Given the description of an element on the screen output the (x, y) to click on. 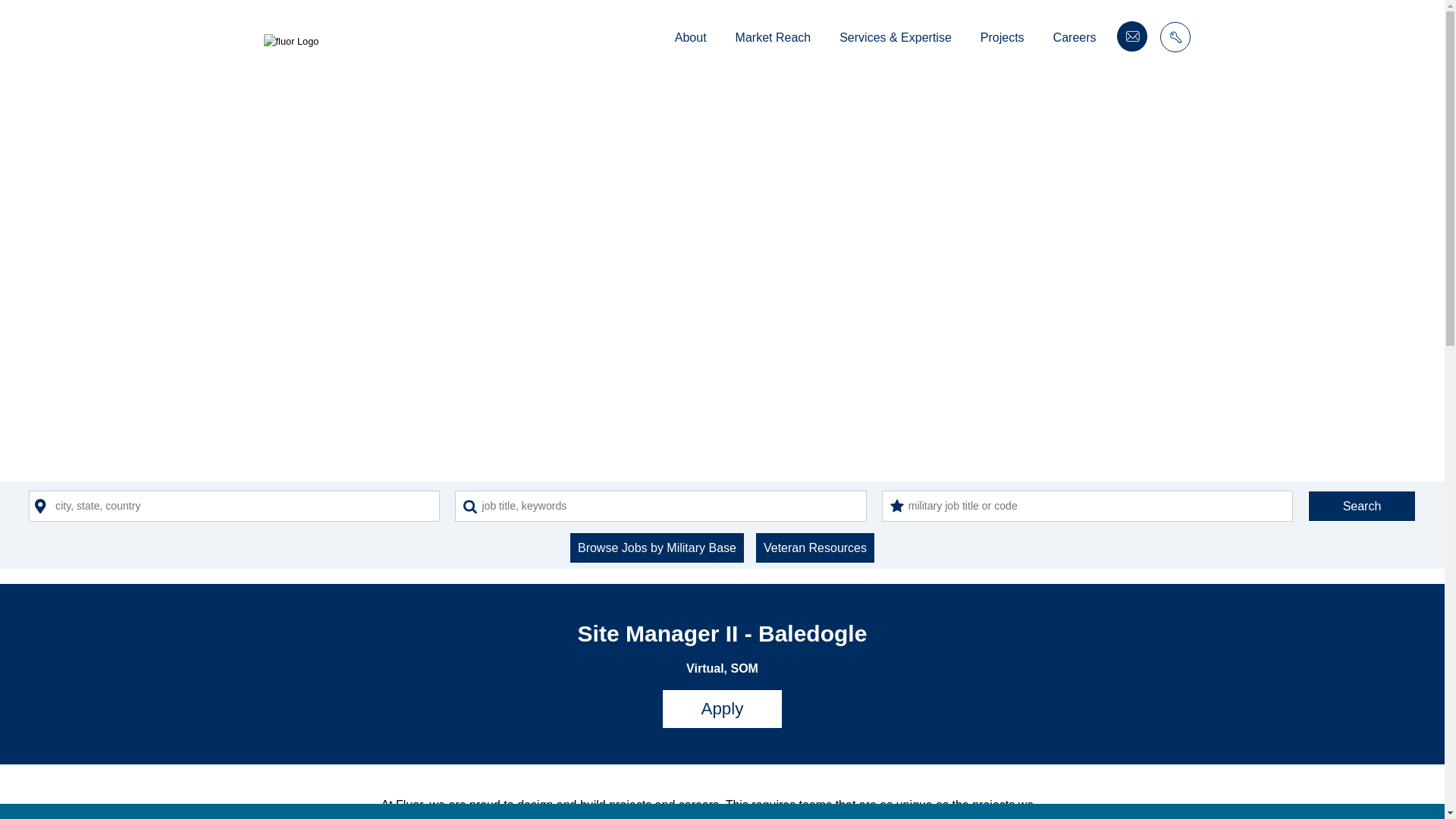
Projects (1002, 39)
Search (1361, 505)
Veteran Resources (815, 547)
Browse Jobs by Military Base (657, 547)
Careers (1074, 39)
Market Reach (772, 39)
